Given the description of an element on the screen output the (x, y) to click on. 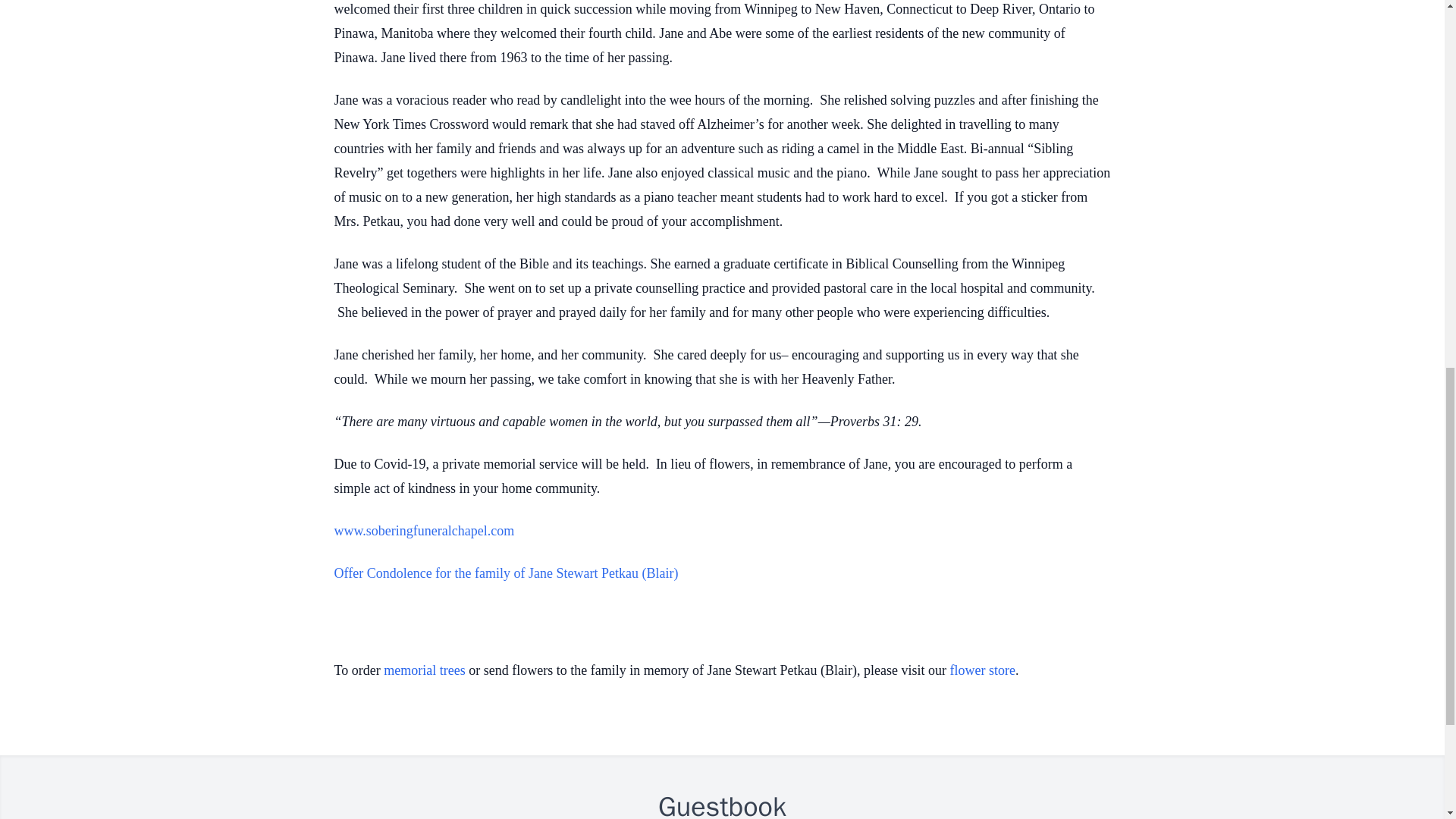
memorial trees (424, 670)
flower store (982, 670)
www.soberingfuneralchapel.com (423, 530)
